Given the description of an element on the screen output the (x, y) to click on. 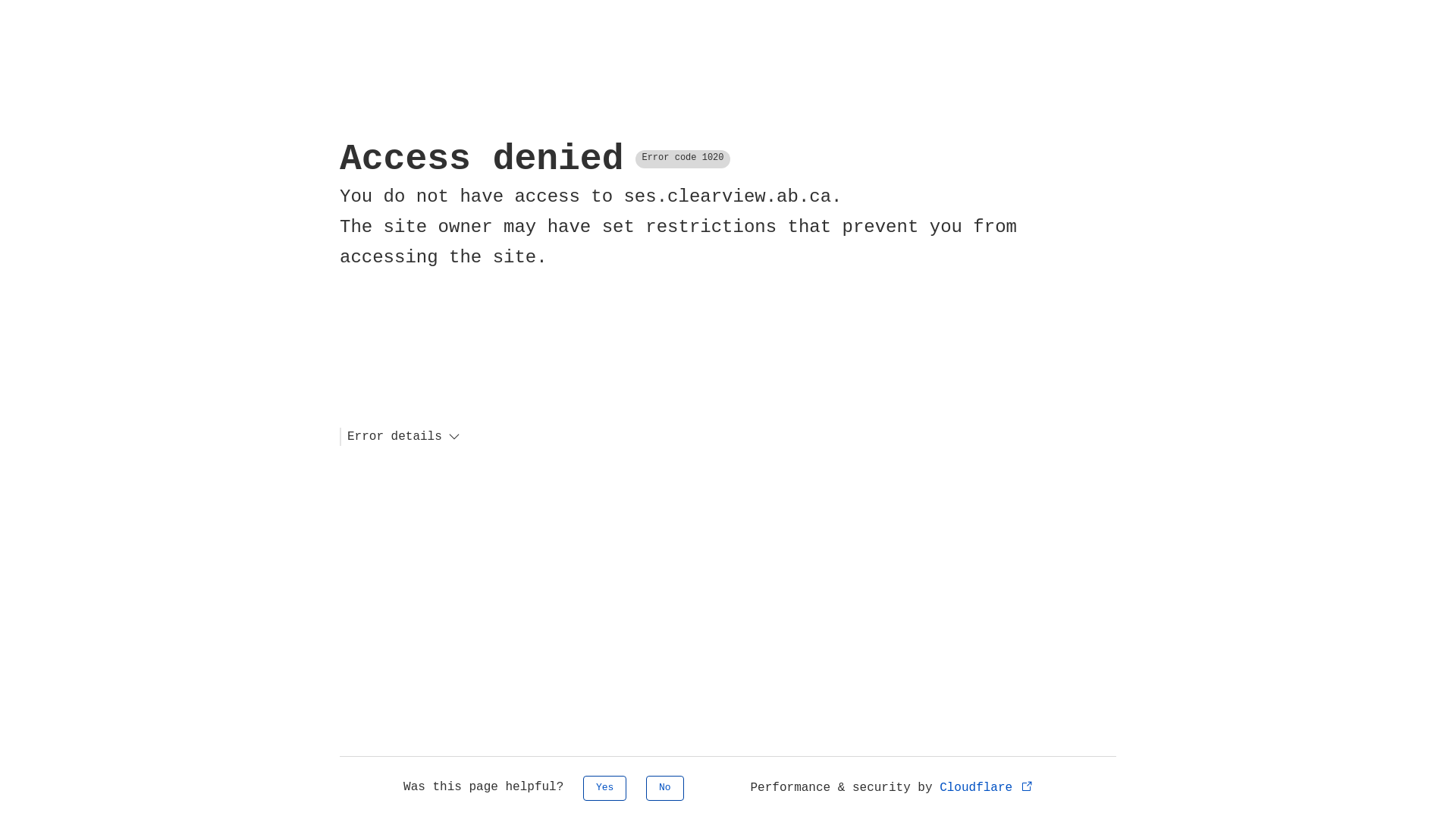
Cloudflare Element type: text (986, 787)
Yes Element type: text (604, 787)
Opens in new tab Element type: hover (1027, 785)
No Element type: text (665, 787)
